Given the description of an element on the screen output the (x, y) to click on. 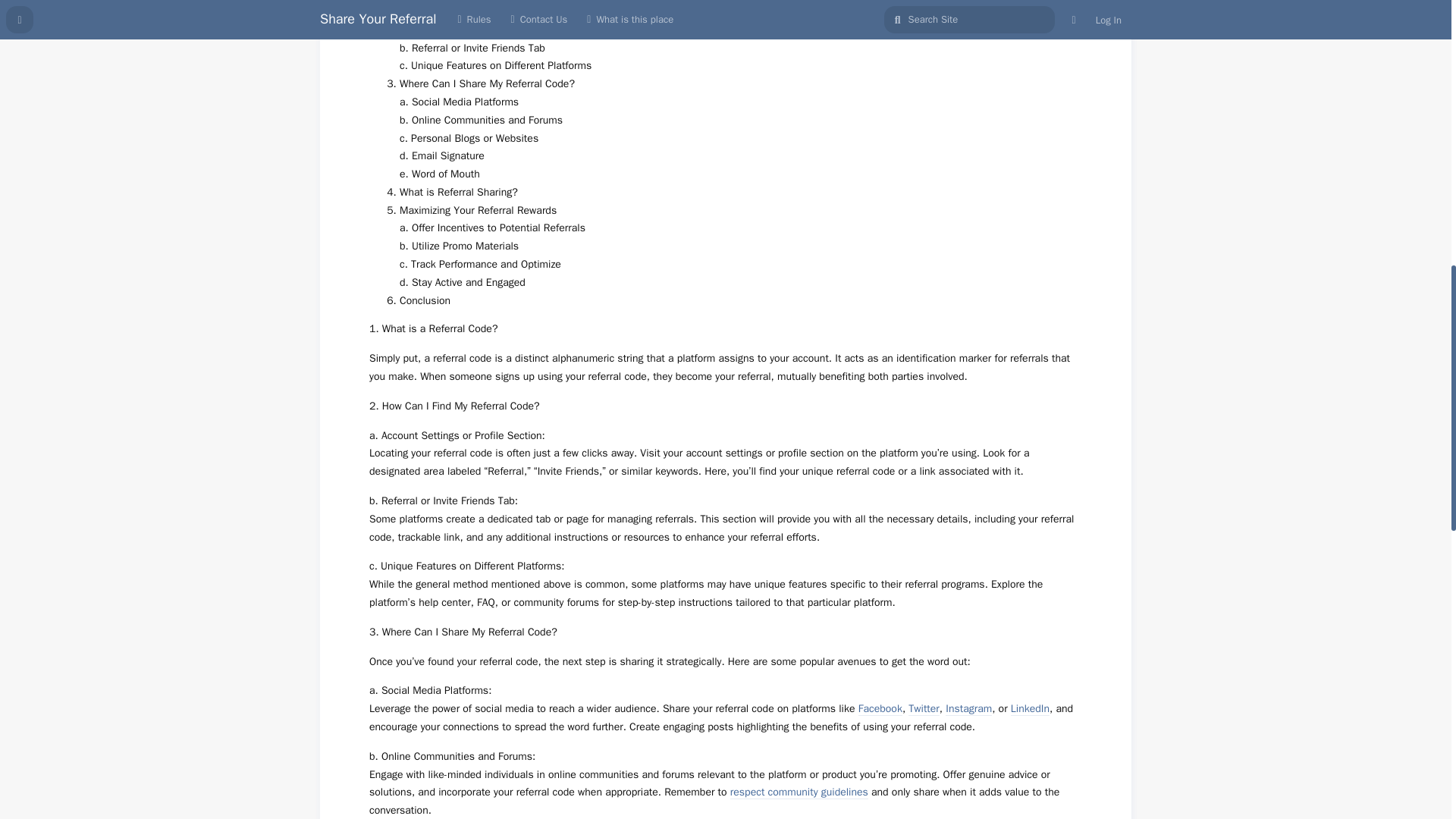
Facebook (880, 708)
LinkedIn (1029, 708)
Instagram (967, 708)
respect community guidelines (798, 792)
Twitter (923, 708)
